Given the description of an element on the screen output the (x, y) to click on. 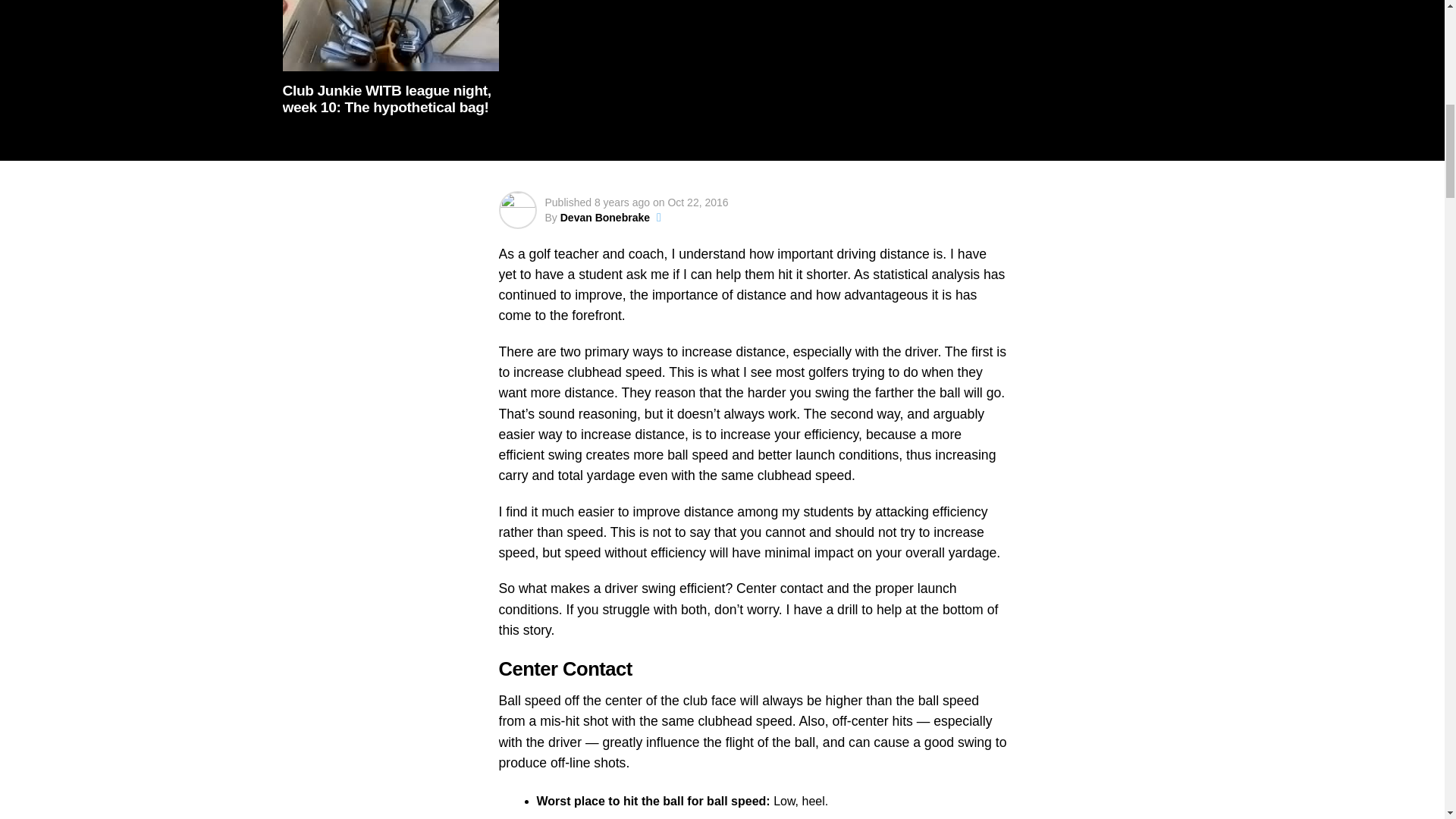
Posts by Devan Bonebrake (604, 217)
